Given the description of an element on the screen output the (x, y) to click on. 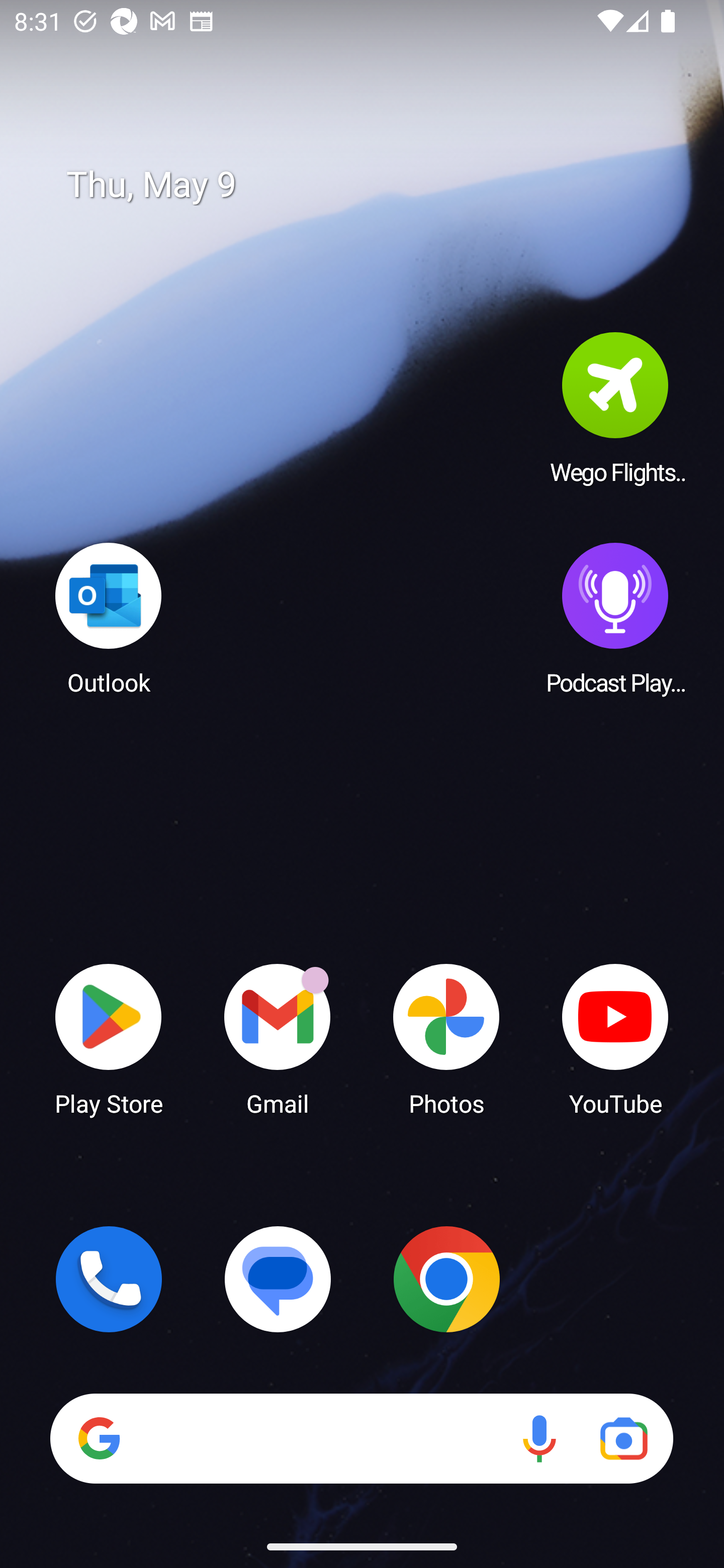
Thu, May 9 (375, 184)
Wego Flights & Hotels (615, 407)
Outlook (108, 617)
Podcast Player (615, 617)
Play Store (108, 1038)
Gmail Gmail has 18 notifications (277, 1038)
Photos (445, 1038)
YouTube (615, 1038)
Phone (108, 1279)
Messages (277, 1279)
Chrome (446, 1279)
Search Voice search Google Lens (361, 1438)
Voice search (539, 1438)
Google Lens (623, 1438)
